Given the description of an element on the screen output the (x, y) to click on. 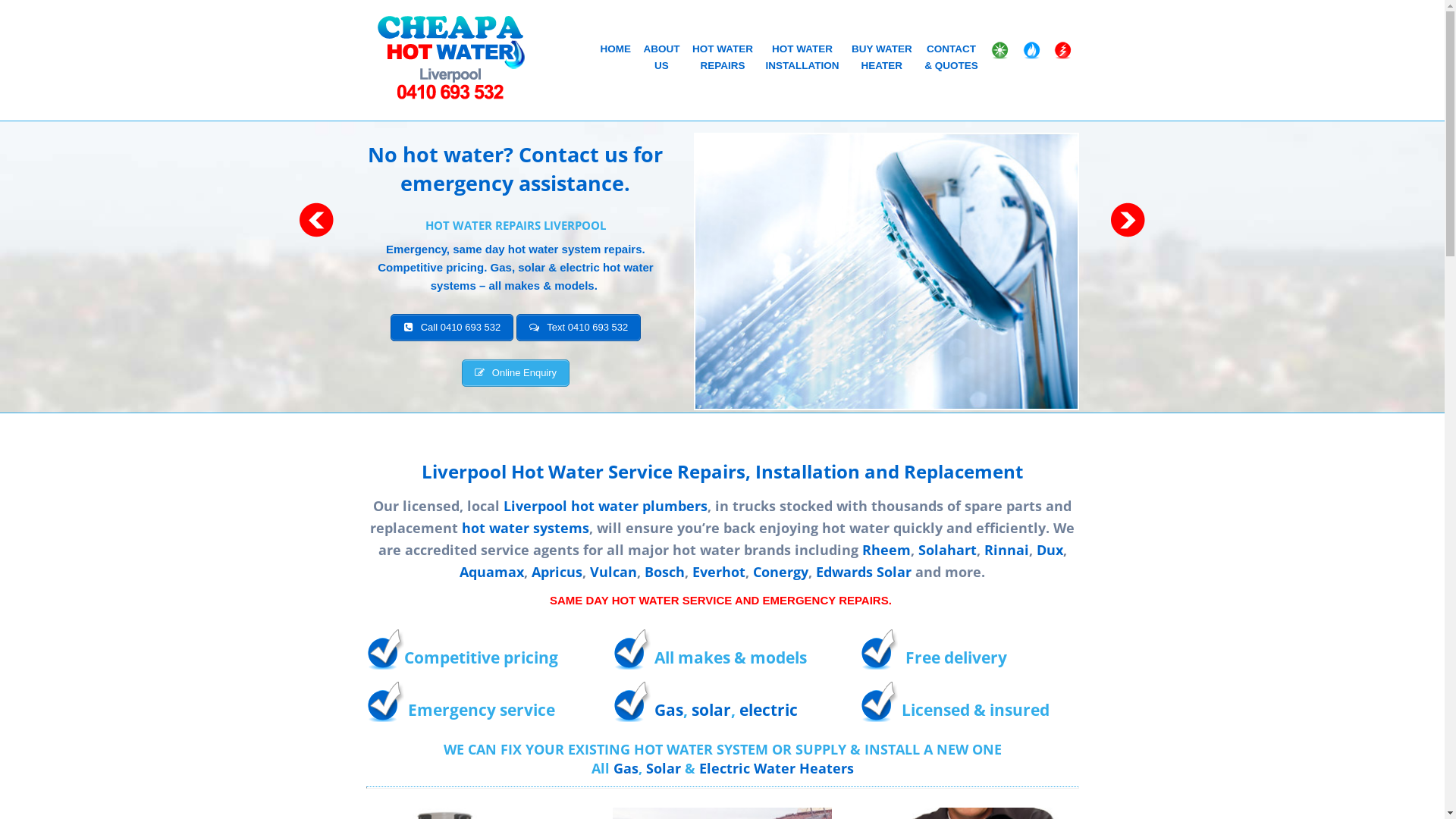
HOME Element type: text (615, 50)
Online Enquiry Element type: text (515, 372)
CONTACT
& QUOTES Element type: text (950, 59)
HOT WATER
INSTALLATION Element type: text (802, 59)
Previous Element type: text (315, 219)
Edwards Solar Element type: text (863, 571)
Rheem Element type: text (885, 549)
Solar Element type: text (665, 768)
Call 0410 693 532 Element type: text (452, 327)
No hot water? Contact us for emergency assistance. Element type: hover (886, 270)
solar Element type: text (711, 709)
Electric Water Heaters Element type: text (776, 768)
Gas Element type: text (668, 709)
Rinnai Element type: text (1006, 549)
Next Element type: text (1127, 219)
ABOUT
US Element type: text (661, 59)
No hot water? Contact us for emergency assistance. Element type: text (514, 168)
hot water systems Element type: text (525, 527)
Conergy Element type: text (780, 571)
Everhot Element type: text (718, 571)
Apricus Element type: text (556, 571)
Bosch Element type: text (664, 571)
Text 0410 693 532 Element type: text (578, 327)
HOT WATER
REPAIRS Element type: text (722, 59)
electric Element type: text (768, 709)
Aquamax Element type: text (491, 571)
Gas Element type: text (624, 768)
Hot Water Heater Repairs, Service and Installation Element type: hover (450, 56)
Dux Element type: text (1048, 549)
Liverpool hot water plumbers Element type: text (605, 505)
Solahart Element type: text (946, 549)
BUY WATER
HEATER Element type: text (881, 59)
Vulcan Element type: text (613, 571)
